Given the description of an element on the screen output the (x, y) to click on. 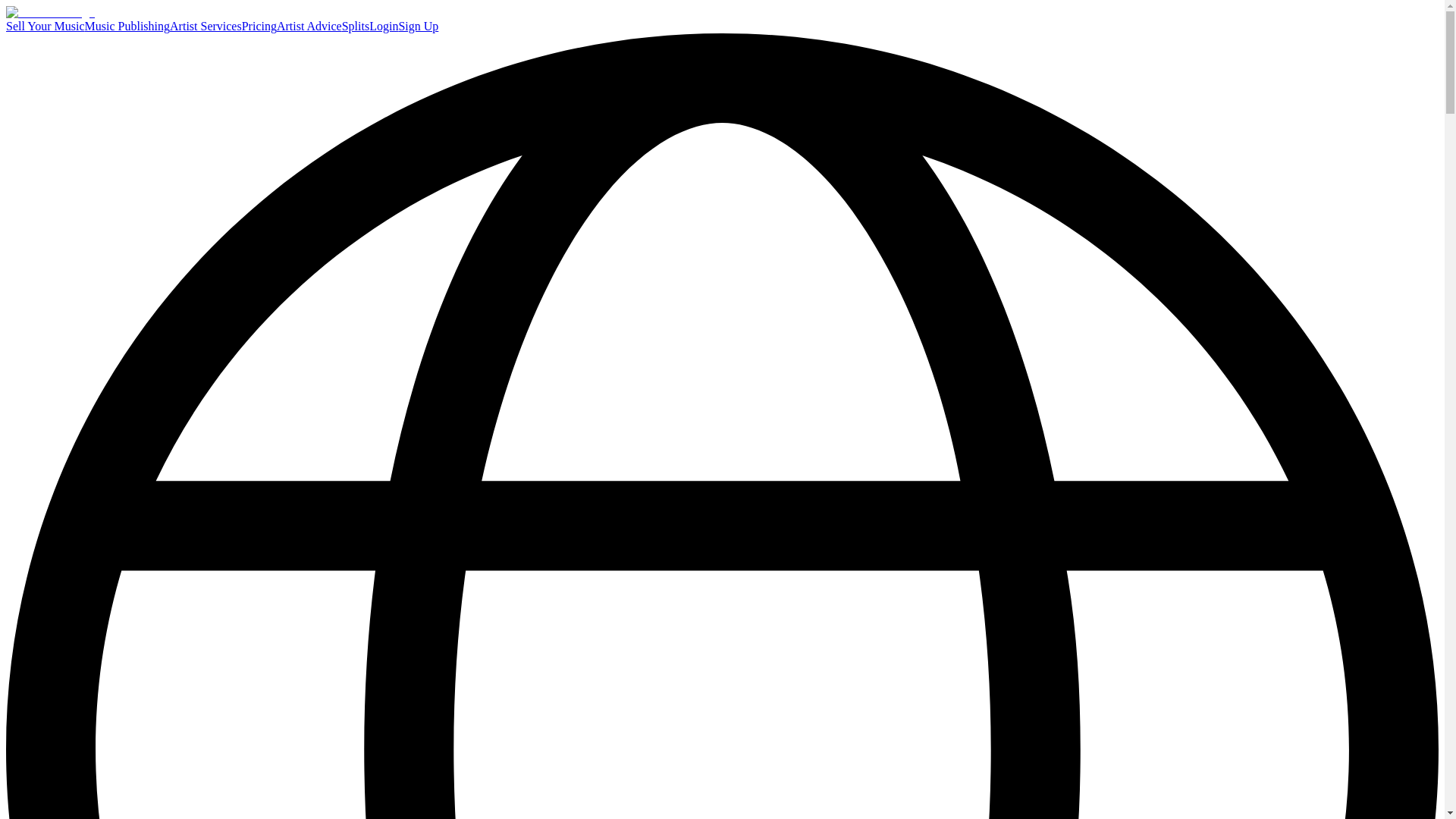
Splits (355, 25)
Music Publishing (127, 25)
Artist Services (205, 25)
Login (383, 25)
Artist Advice (309, 25)
Sign Up (417, 25)
Sell Your Music (44, 25)
Pricing (258, 25)
